Given the description of an element on the screen output the (x, y) to click on. 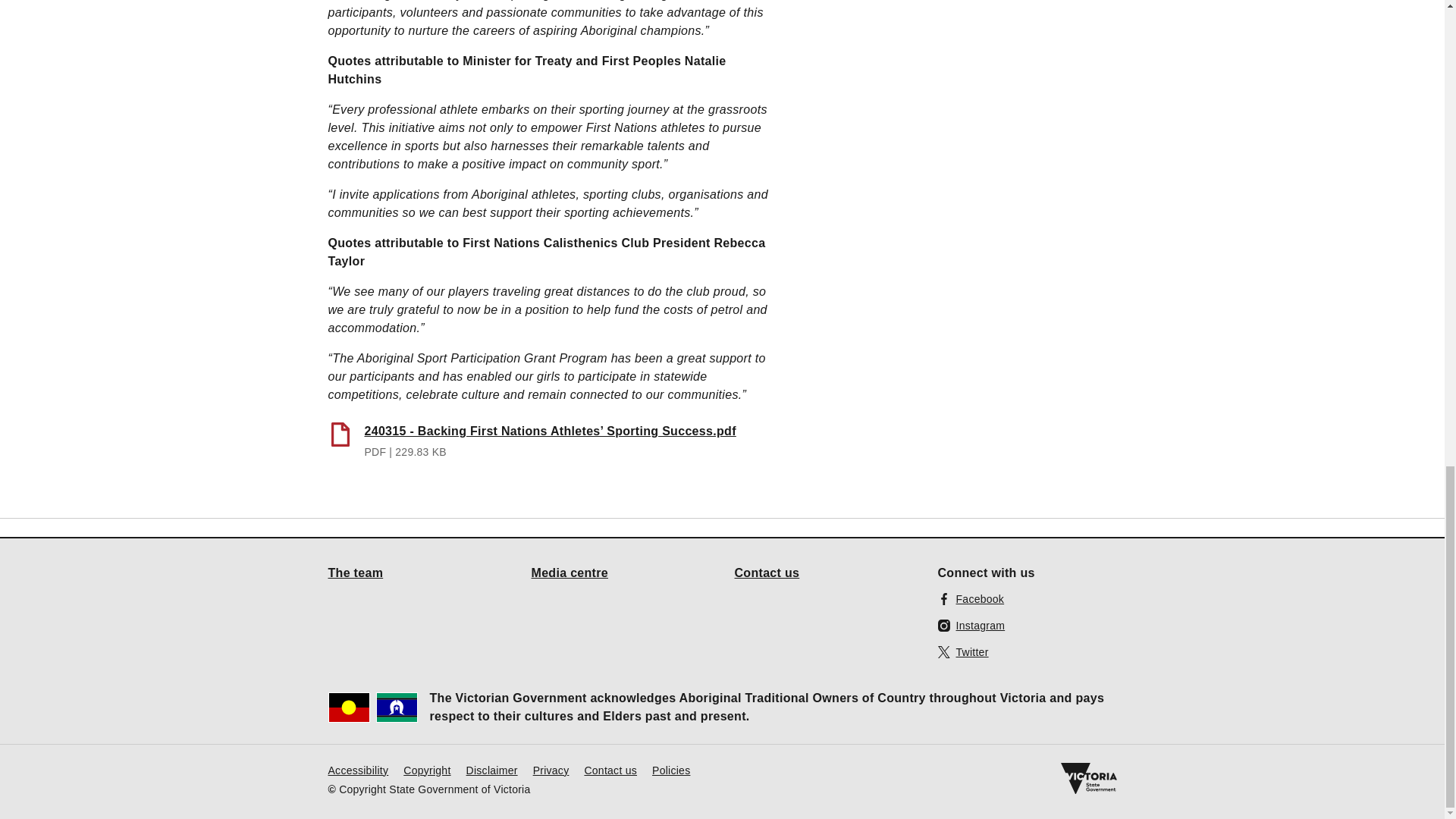
Policies (671, 769)
Instagram (970, 625)
The team (354, 572)
Media centre (569, 572)
Accessibility (357, 769)
Privacy (550, 769)
Facebook (970, 598)
Victoria government home (1087, 778)
Contact us (610, 769)
Copyright (426, 769)
